Given the description of an element on the screen output the (x, y) to click on. 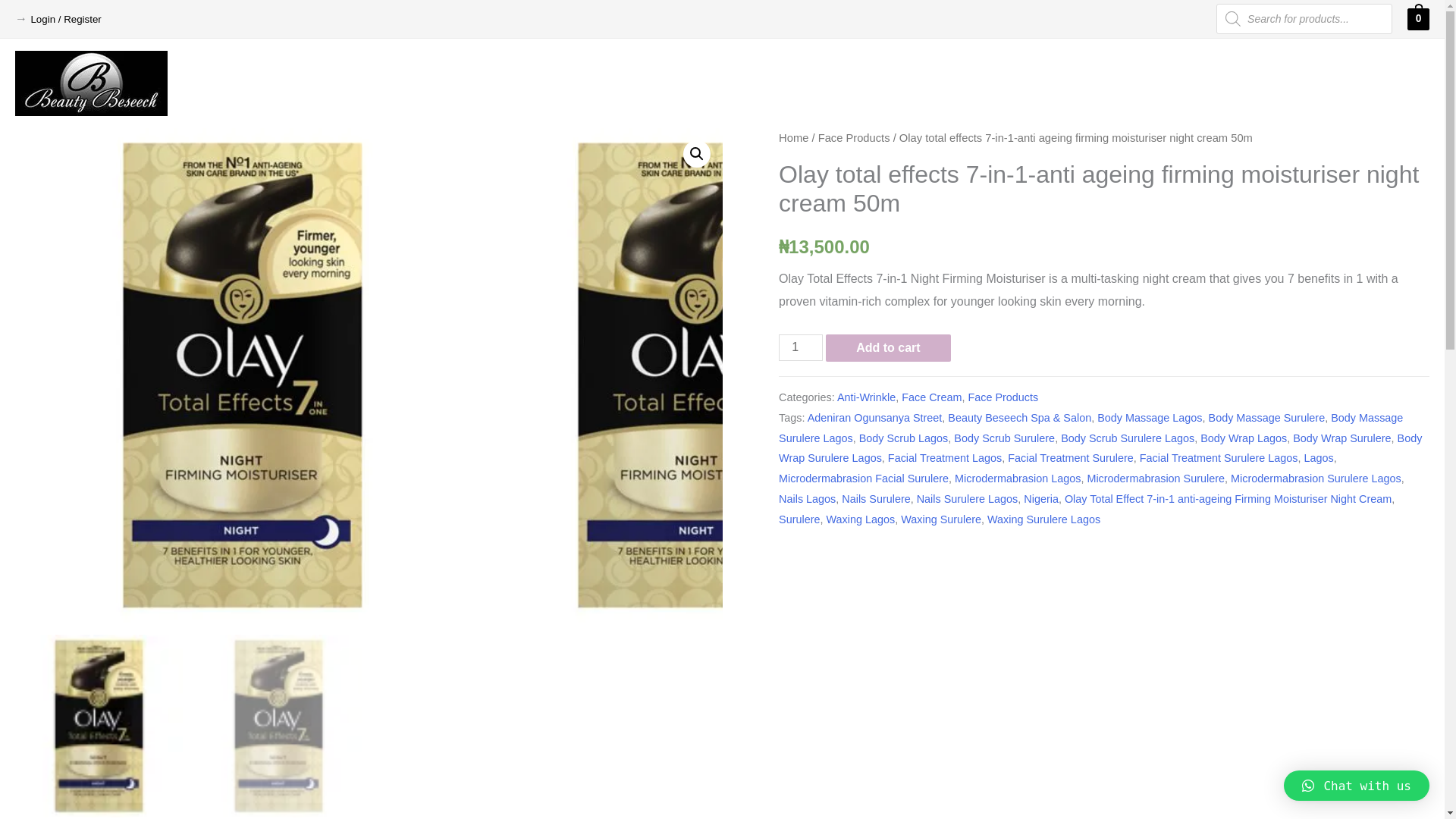
Our Services (1058, 82)
0 (1418, 18)
View your shopping cart (1418, 18)
Contact (1395, 82)
Opening Hours (1261, 82)
Blog (1338, 82)
Home (793, 137)
Our Products (1160, 82)
Home (901, 82)
Qty (800, 347)
1 (800, 347)
About Us (967, 82)
